Given the description of an element on the screen output the (x, y) to click on. 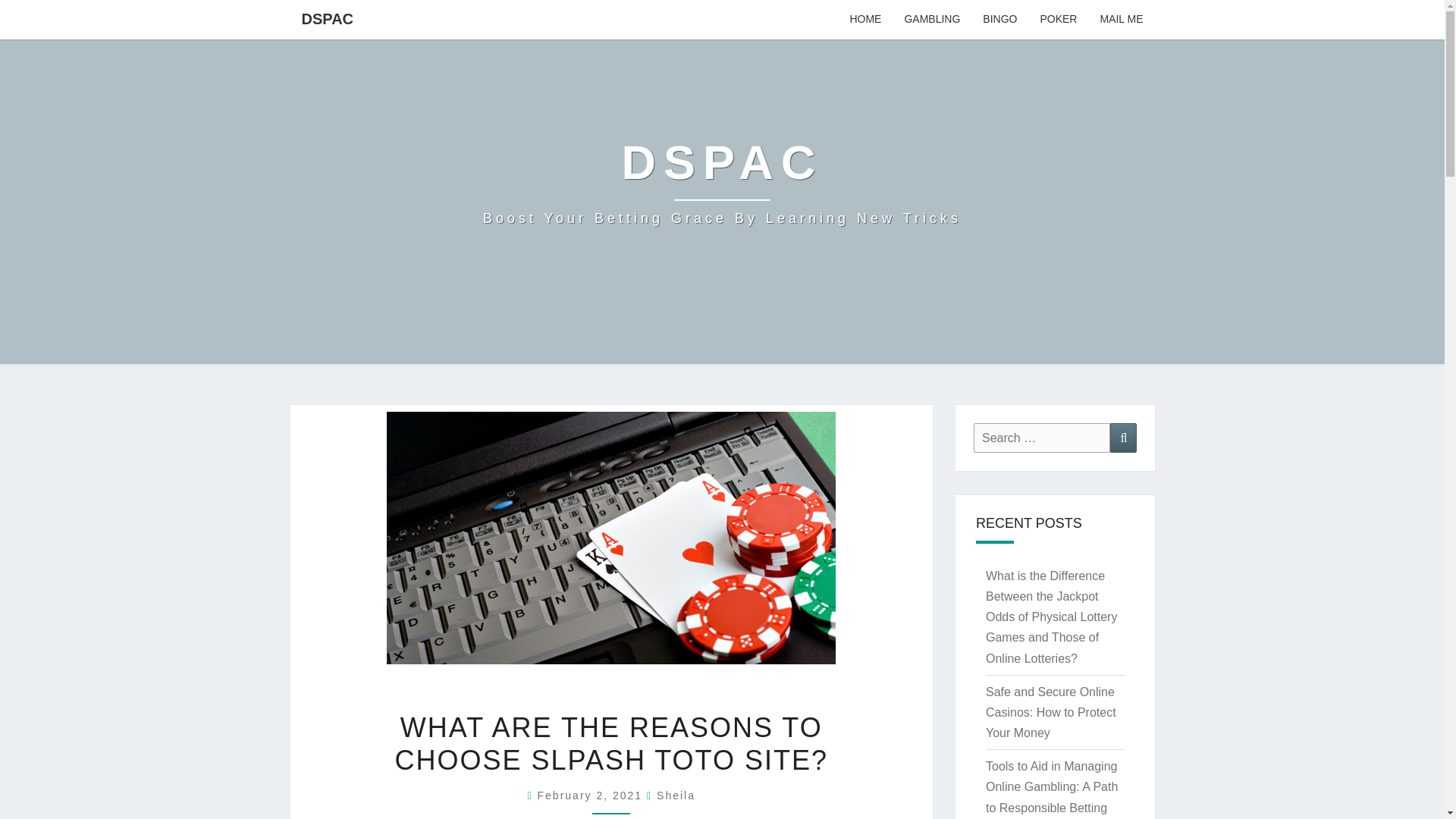
Search (1123, 437)
February 2, 2021 (592, 795)
Safe and Secure Online Casinos: How to Protect Your Money (1050, 712)
BINGO (999, 19)
HOME (865, 19)
POKER (1057, 19)
GAMBLING (931, 19)
DSPAC (327, 18)
Search for: (721, 182)
Sheila (1041, 437)
MAIL ME (675, 795)
6:36 am (1120, 19)
View all posts by Sheila (592, 795)
